Given the description of an element on the screen output the (x, y) to click on. 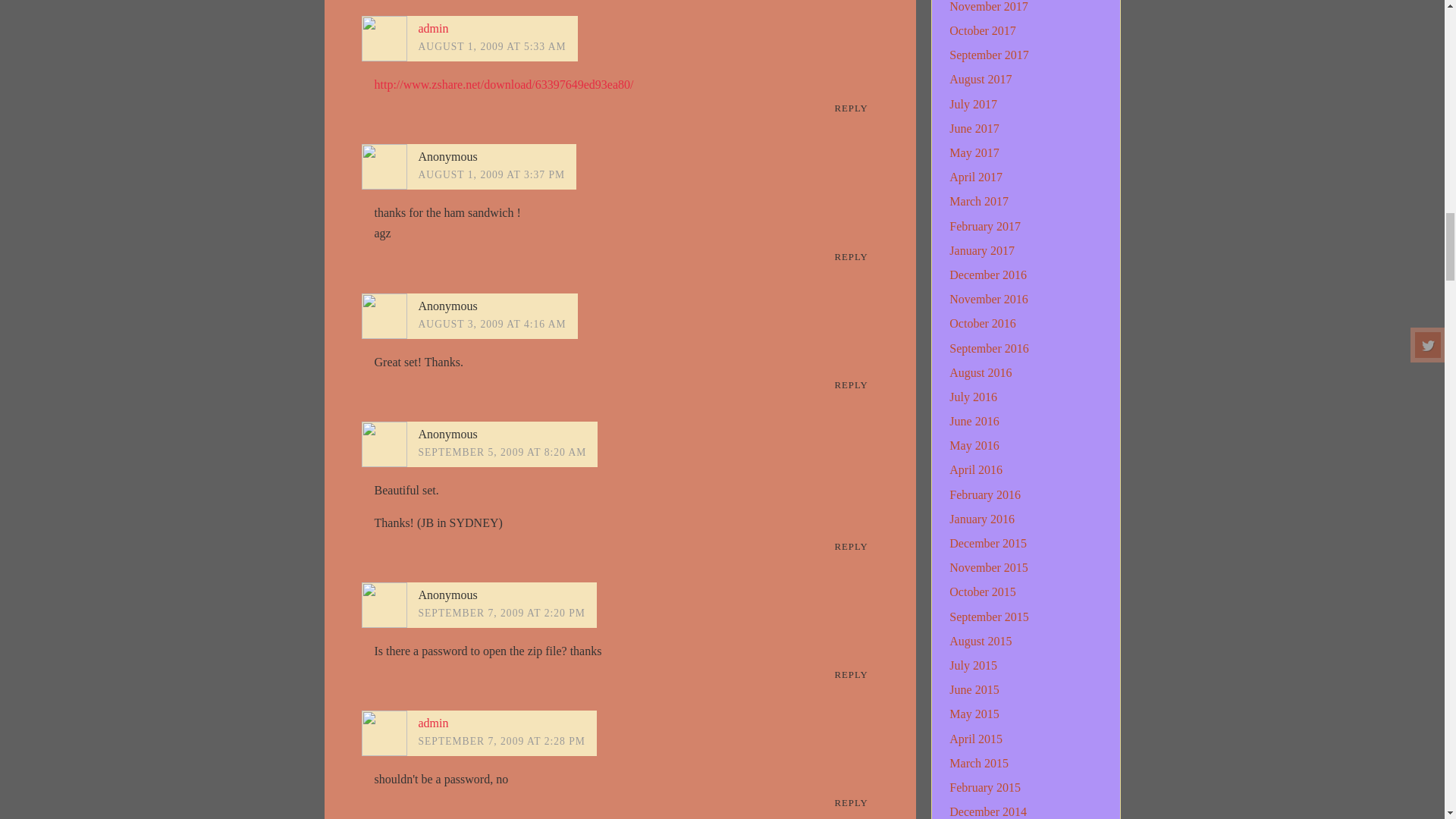
AUGUST 1, 2009 AT 3:37 PM (492, 174)
AUGUST 1, 2009 AT 5:33 AM (492, 46)
REPLY (851, 108)
REPLY (851, 258)
admin (433, 28)
